Given the description of an element on the screen output the (x, y) to click on. 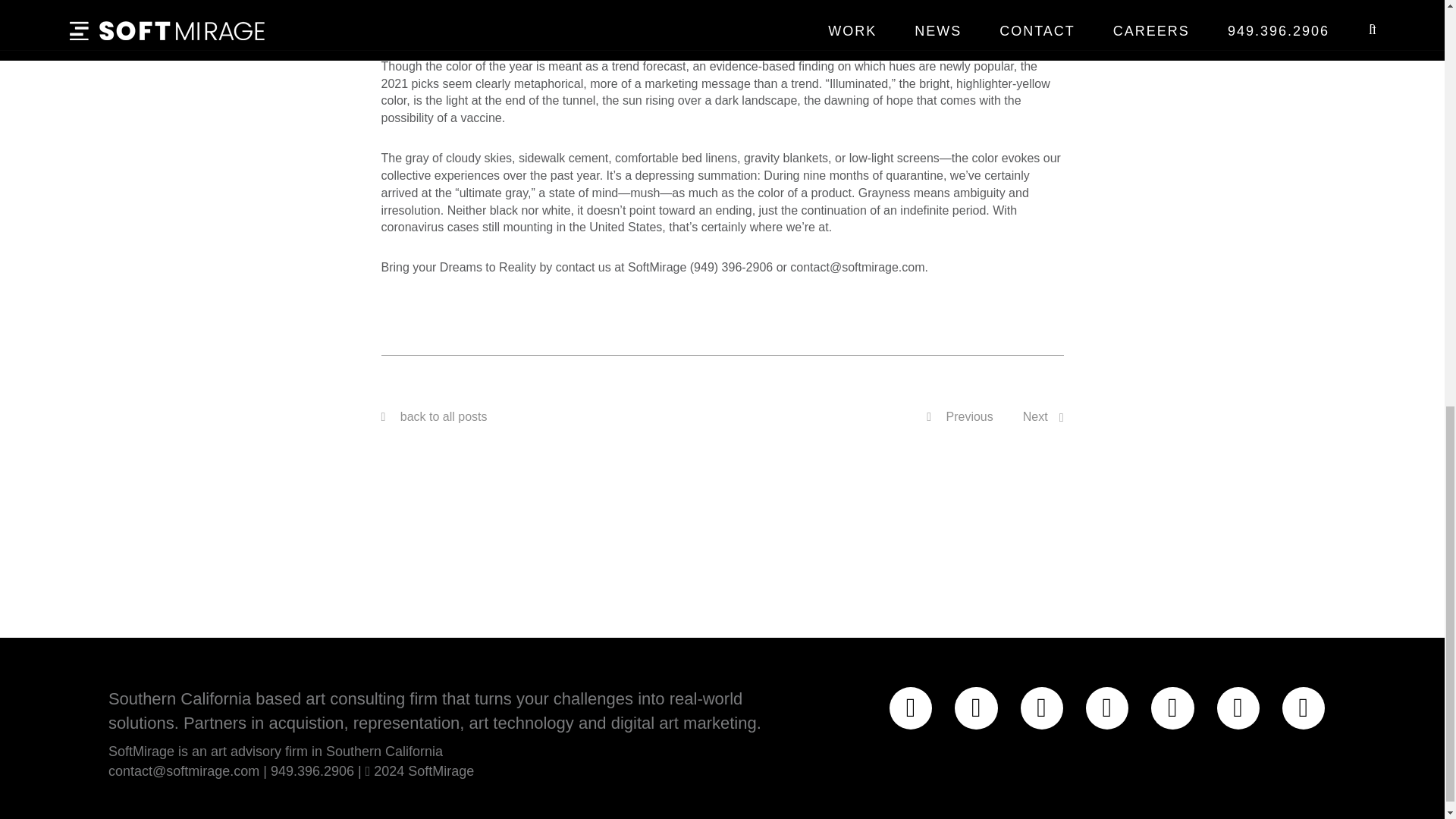
949.396.2906 (311, 770)
back to all posts (443, 416)
Previous (959, 416)
Next (1035, 416)
